Given the description of an element on the screen output the (x, y) to click on. 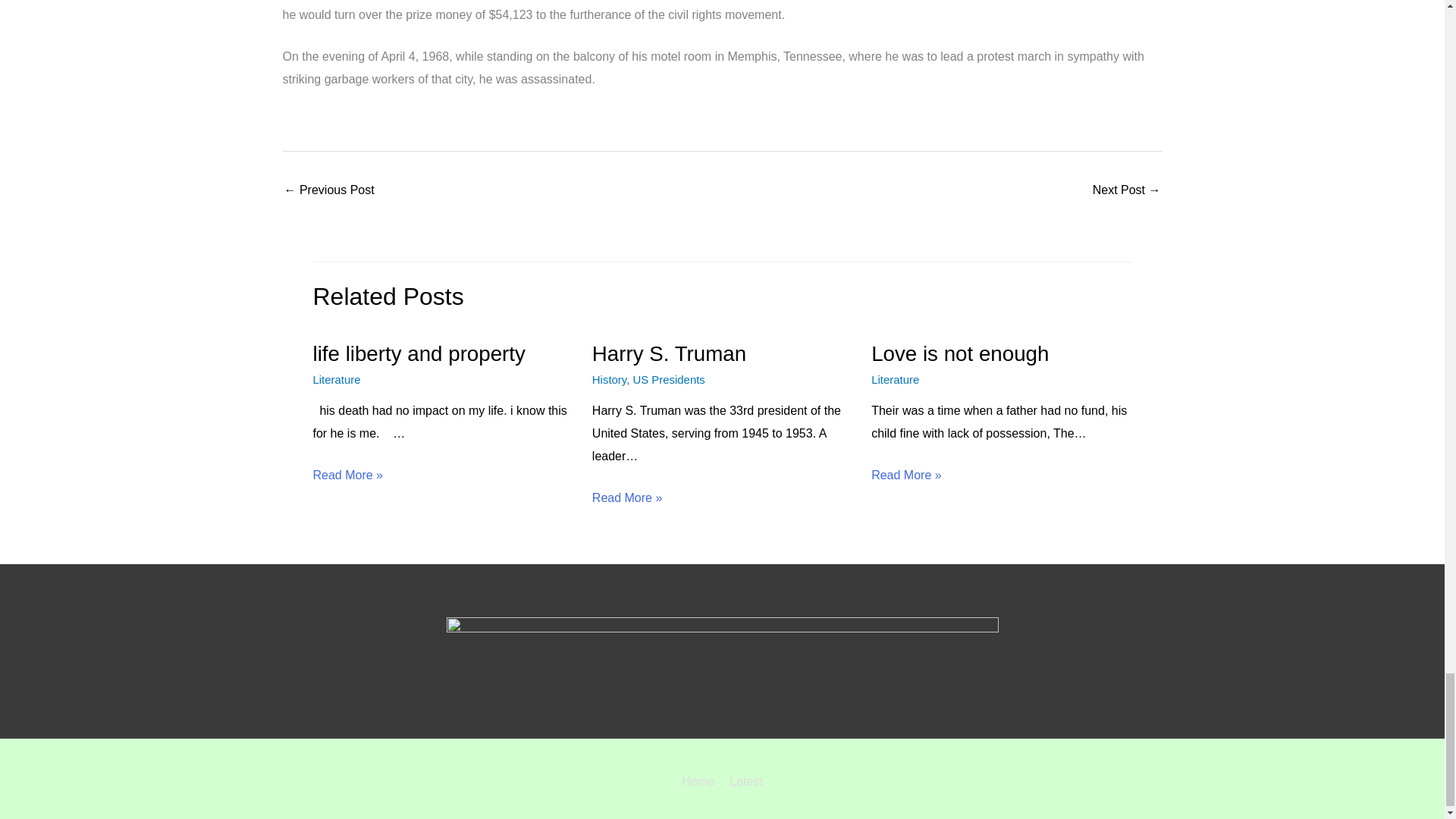
2010 PiperSport (328, 191)
Literature (894, 379)
US Presidents (667, 379)
Literature (336, 379)
Home (700, 780)
History (609, 379)
Safety Issue: Youth Highway Safety (1126, 191)
Latest (742, 780)
Love is not enough (959, 353)
Harry S. Truman (668, 353)
